Given the description of an element on the screen output the (x, y) to click on. 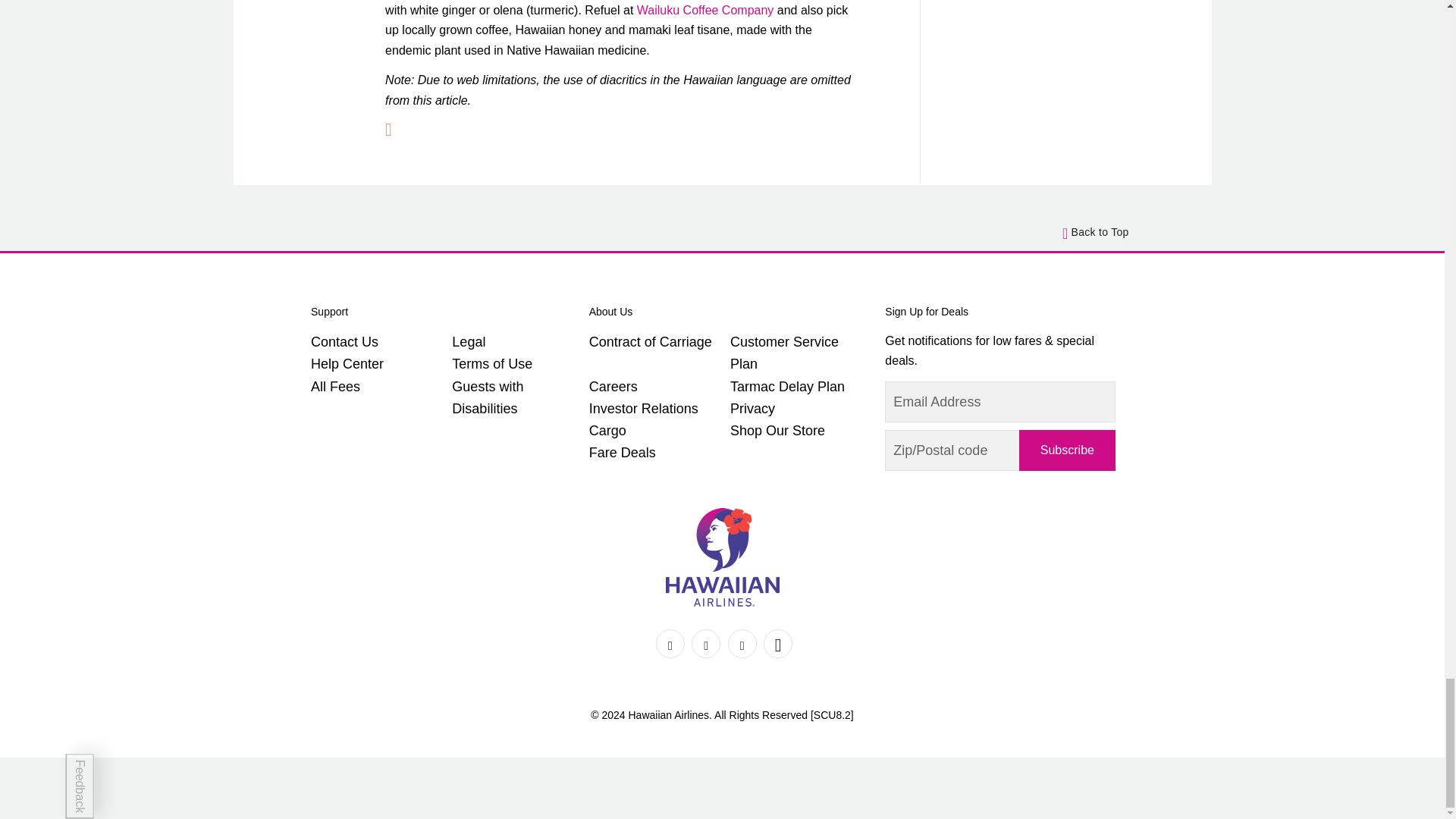
Visit us on YouTube (777, 643)
Visit us on Twitter (705, 643)
Visit us on Instagram (742, 643)
Visit us on Facebook (670, 643)
